Given the description of an element on the screen output the (x, y) to click on. 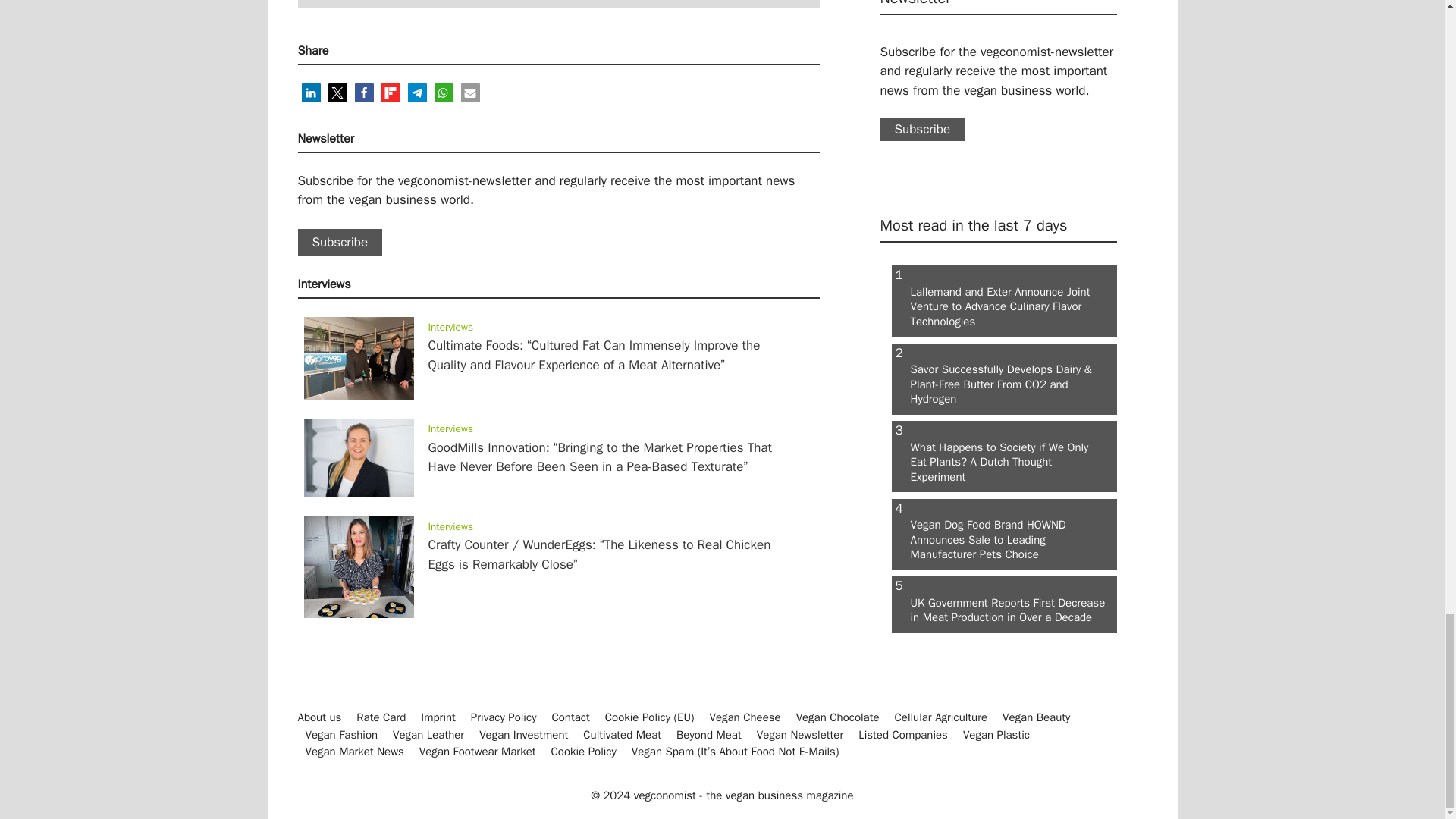
Share on Facebook (364, 92)
Send by email (470, 92)
Share on X (336, 92)
Share on Flipboard (389, 92)
Share on Telegram (416, 92)
Share on LinkedIn (310, 92)
Share on Whatsapp (442, 92)
